Given the description of an element on the screen output the (x, y) to click on. 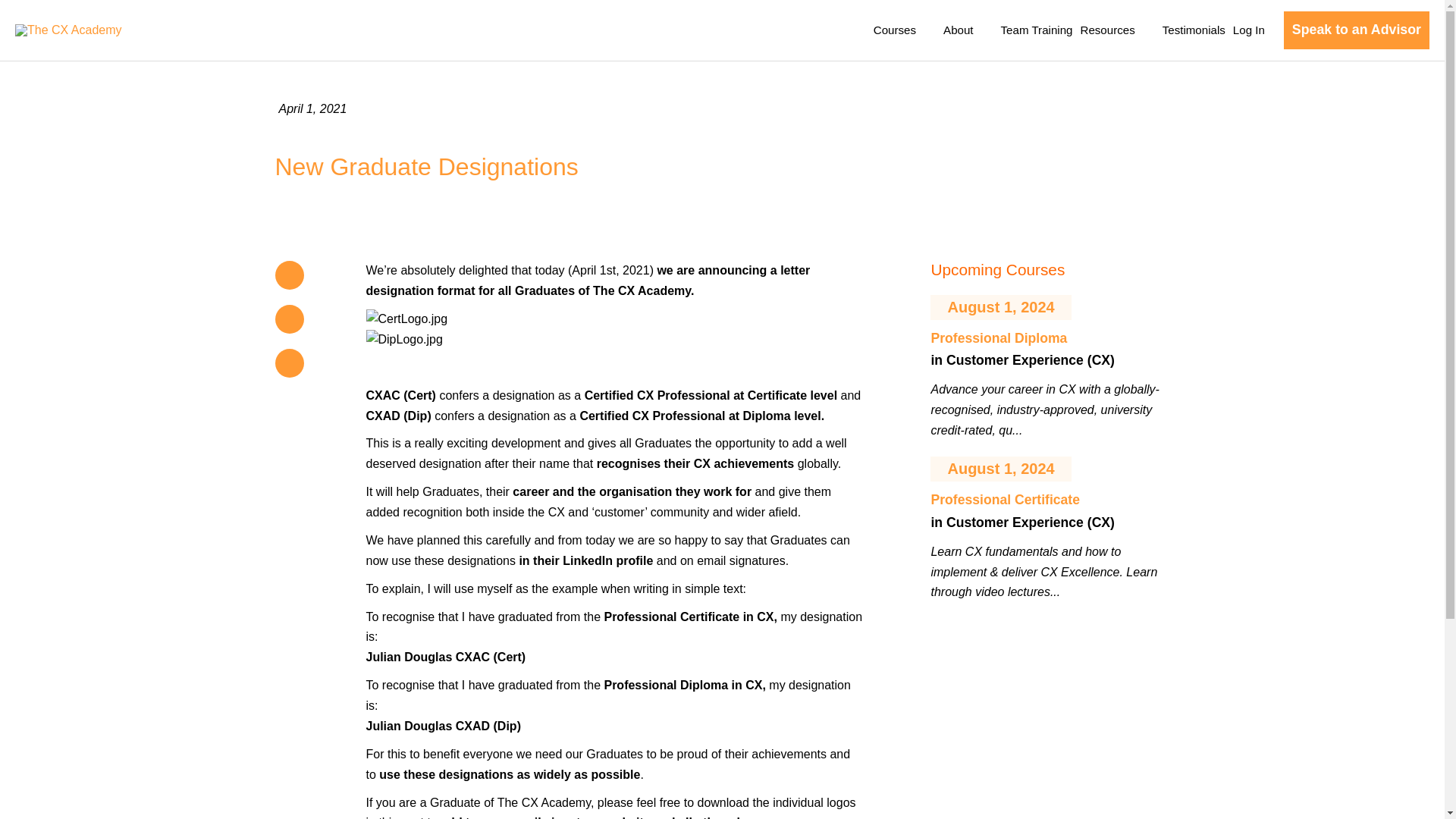
Testimonials (1193, 30)
About (968, 30)
Team Training (1037, 30)
Courses (904, 30)
Resources (1116, 30)
Speak to an Advisor (1356, 29)
